Given the description of an element on the screen output the (x, y) to click on. 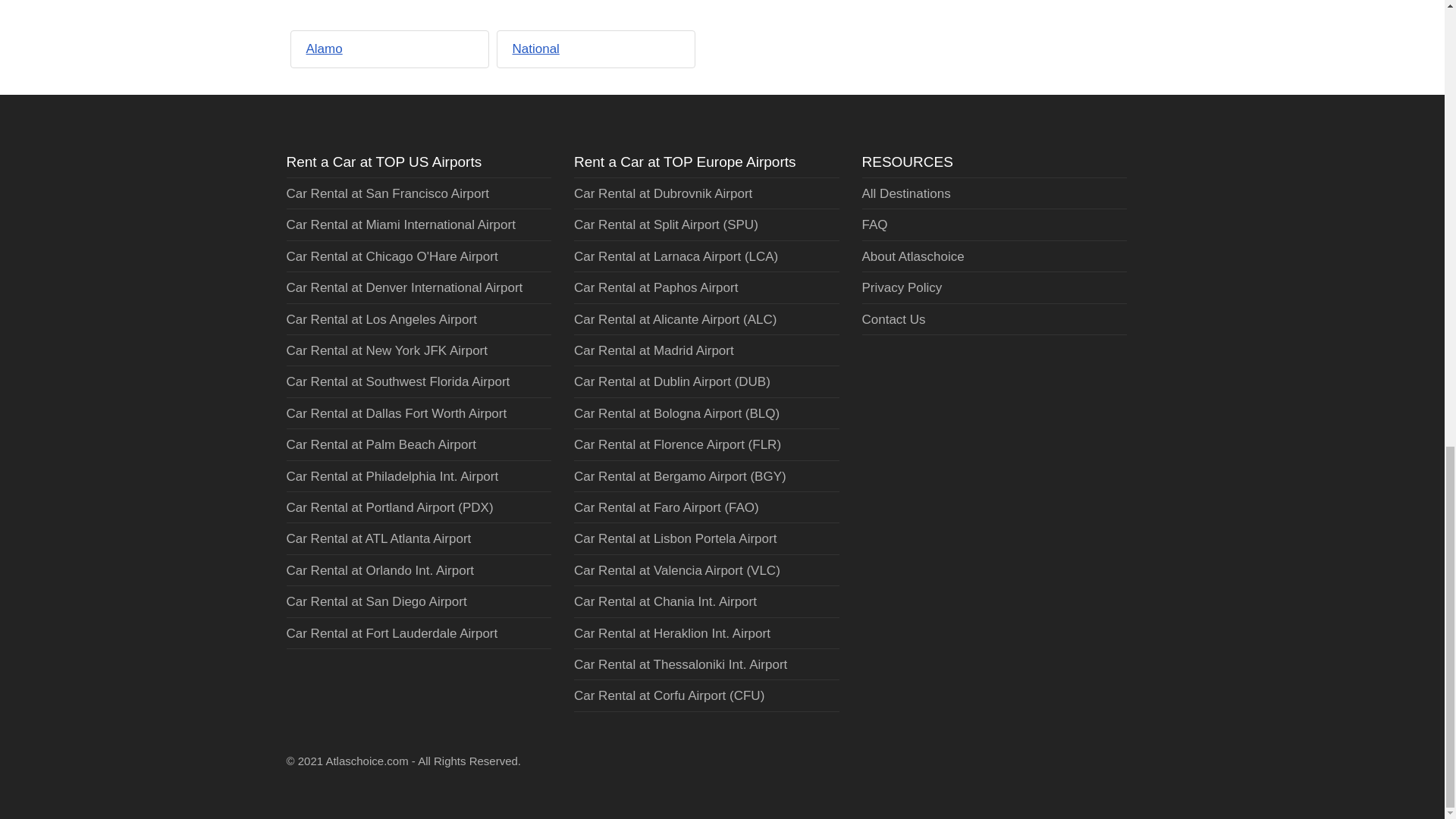
Car Rental at New York JFK Airport (386, 350)
Car Rental at Southwest Florida Airport (398, 381)
Car Rental at Miami International Airport (400, 224)
Car Rental at Palm Beach Airport (381, 444)
Car Rental at ATL Atlanta Airport (378, 538)
Car Rental at San Francisco Airport (387, 193)
Alamo (323, 48)
Car Rental at Dallas Fort Worth Airport (396, 413)
Car Rental at Orlando Int. Airport (380, 570)
National (535, 48)
